Given the description of an element on the screen output the (x, y) to click on. 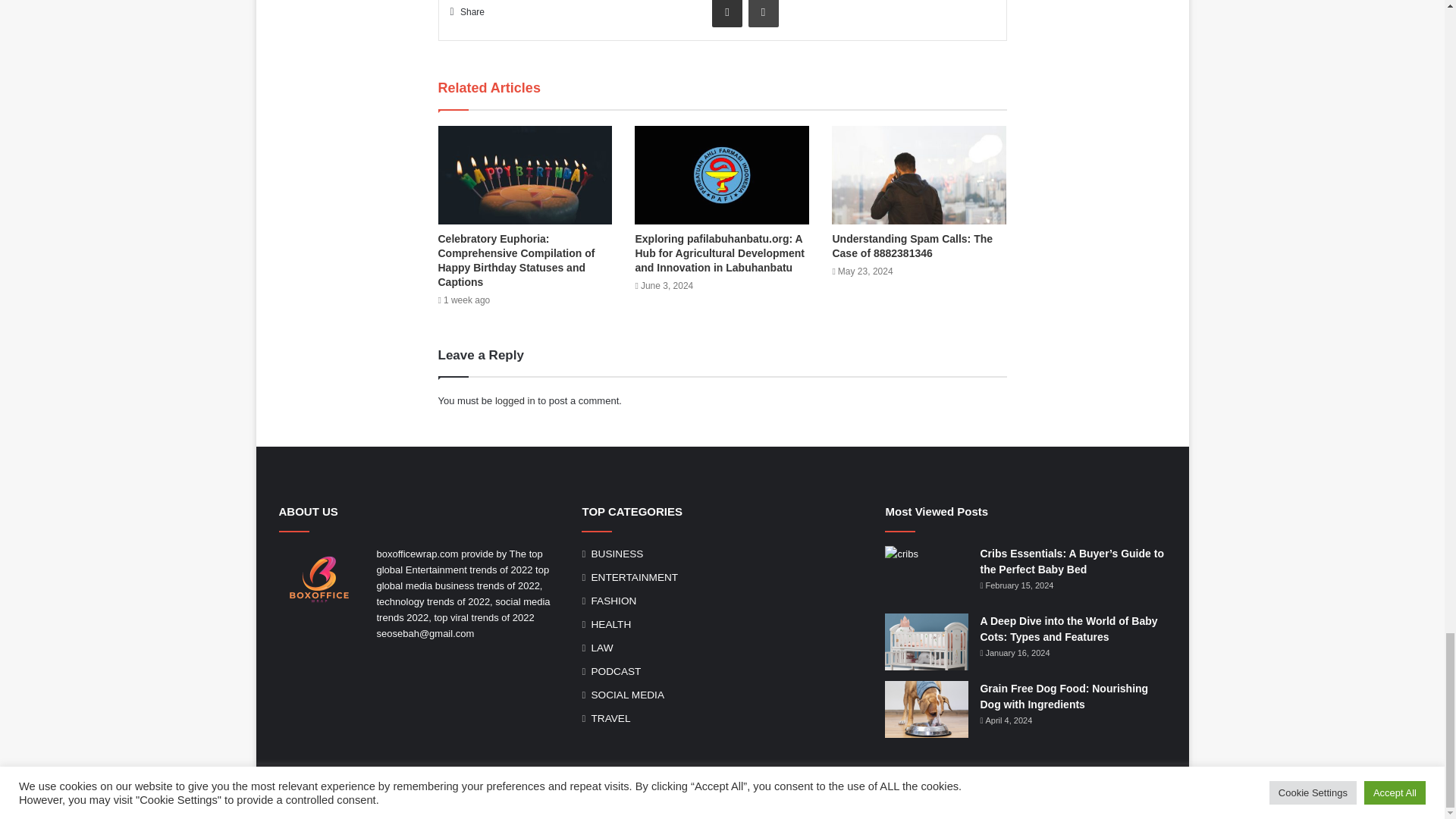
Share via Email (726, 13)
Print (763, 13)
BUSINESS (617, 553)
Share via Email (726, 13)
Understanding Spam Calls: The Case of 8882381346 (911, 245)
FASHION (613, 600)
logged in (515, 400)
Print (763, 13)
ENTERTAINMENT (634, 577)
HEALTH (610, 624)
